Given the description of an element on the screen output the (x, y) to click on. 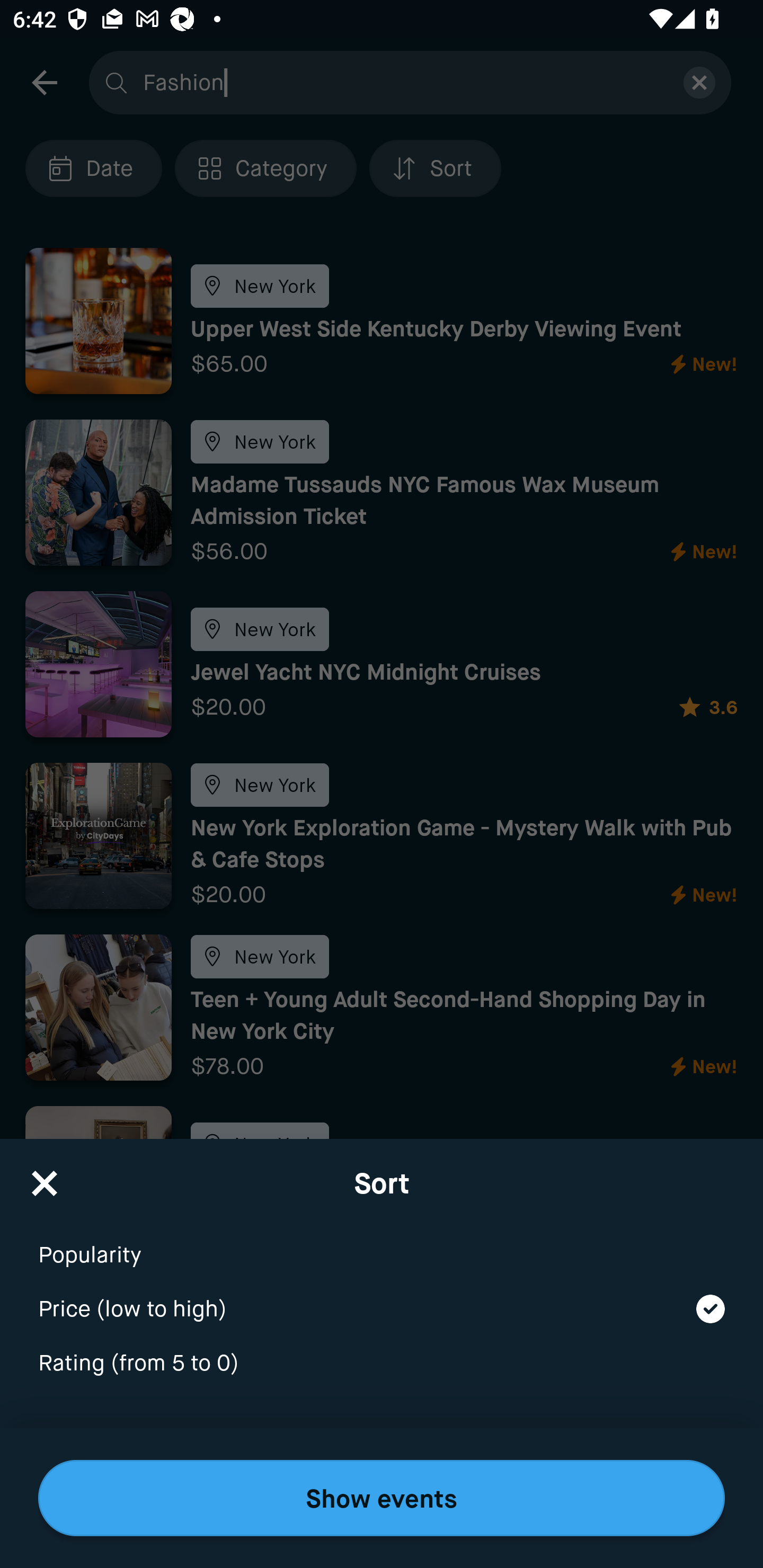
CloseButton (44, 1177)
Popularity (381, 1243)
Price (low to high) Selected Icon (381, 1297)
Rating (from 5 to 0) (381, 1362)
Show events (381, 1497)
